Given the description of an element on the screen output the (x, y) to click on. 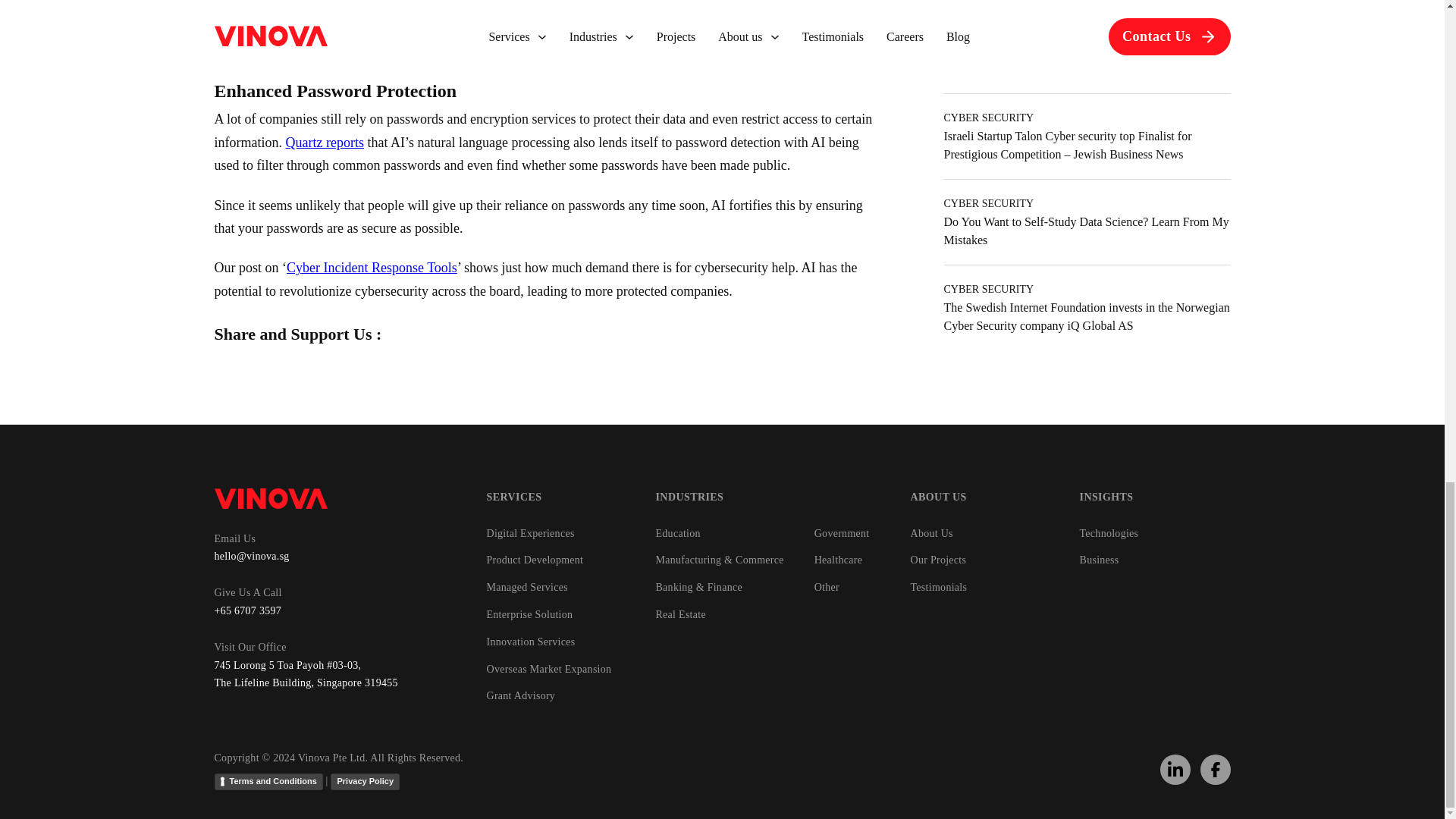
Privacy Policy  (364, 781)
Facebook (1215, 769)
Terms and Conditions  (267, 781)
Linkedin (1174, 770)
